Given the description of an element on the screen output the (x, y) to click on. 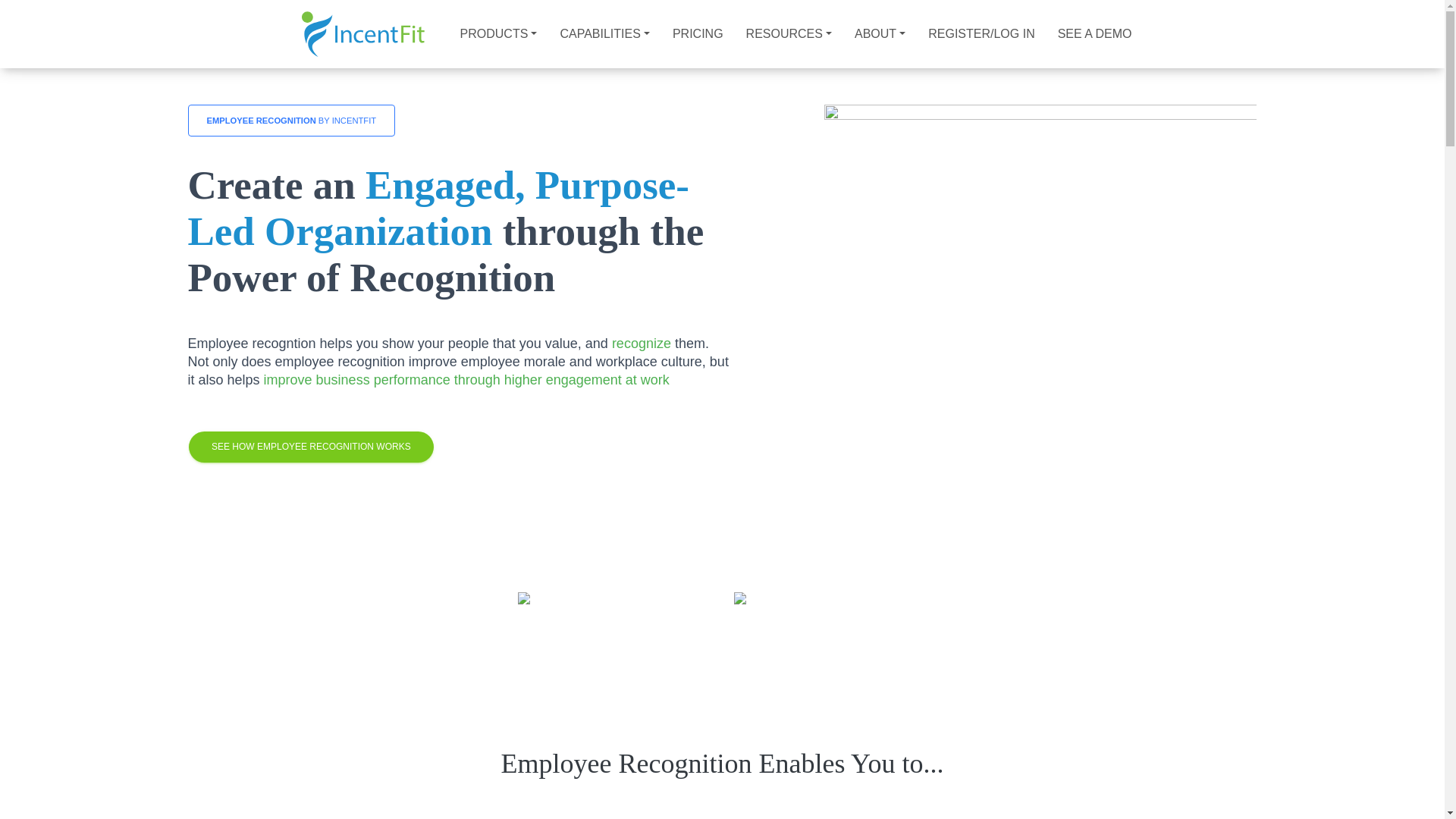
PRICING (698, 34)
CAPABILITIES (604, 34)
PRODUCTS (498, 34)
RESOURCES (789, 34)
Capabilities (604, 34)
Products (498, 34)
